Given the description of an element on the screen output the (x, y) to click on. 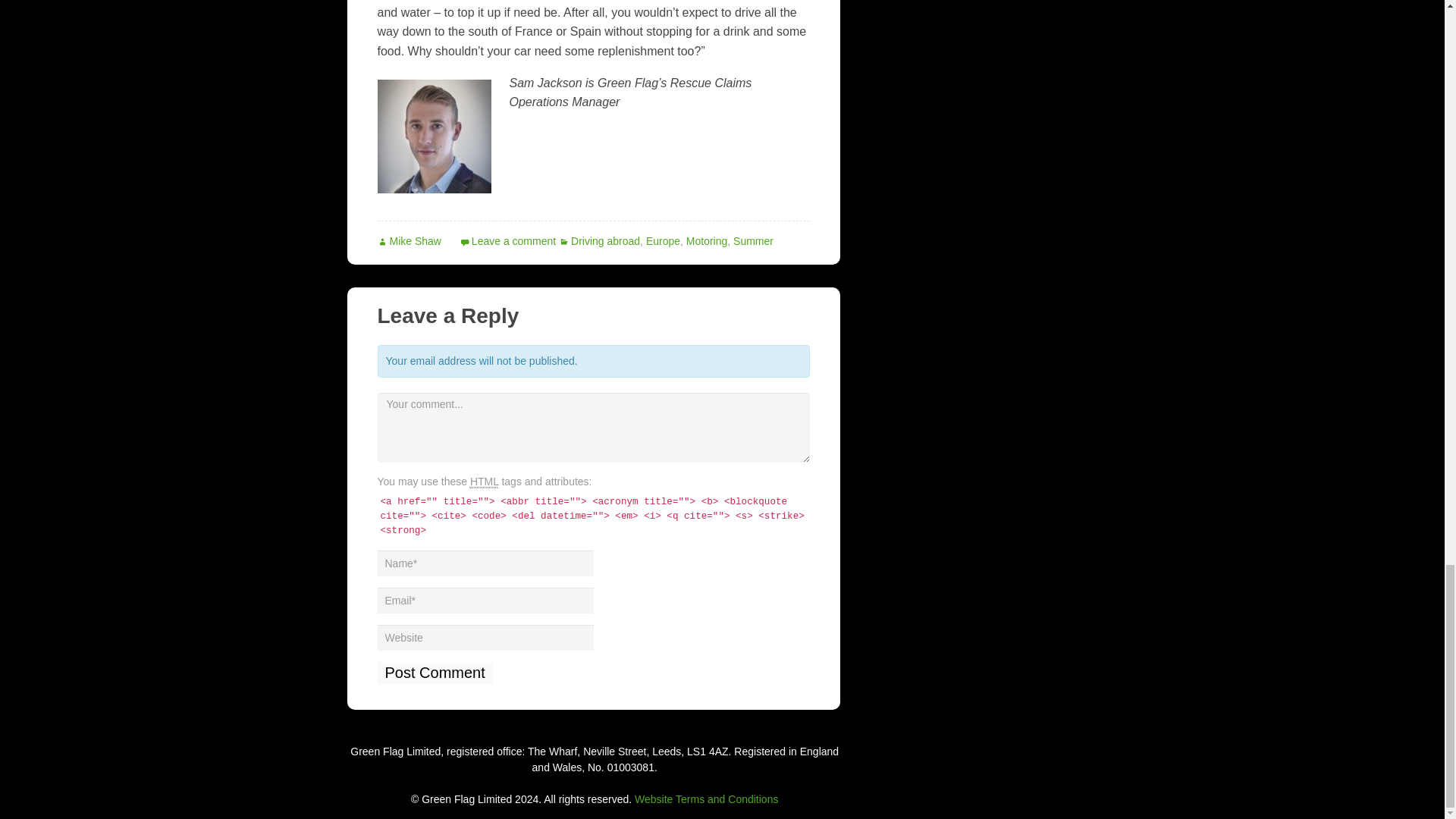
Post Comment (435, 672)
View all posts by Mike Shaw (409, 241)
Europe (662, 241)
Mike Shaw (409, 241)
HyperText Markup Language (484, 481)
Post Comment (435, 672)
Leave a comment (508, 241)
Website Terms and Conditions (705, 799)
Website Terms and Conditions (705, 799)
Driving abroad (599, 241)
Motoring (705, 241)
Summer (753, 241)
